Given the description of an element on the screen output the (x, y) to click on. 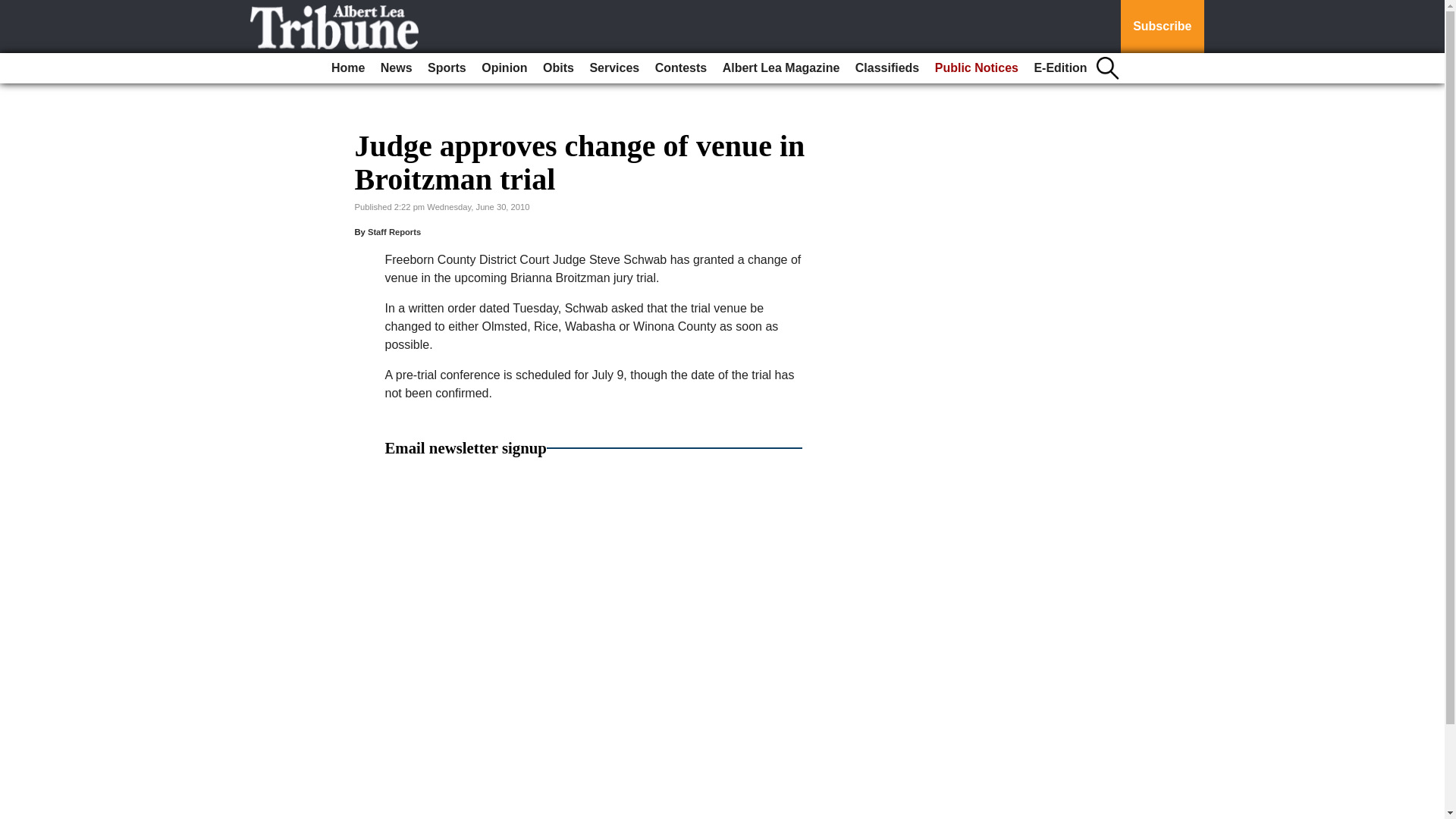
Opinion (504, 68)
News (396, 68)
Obits (558, 68)
Services (614, 68)
Home (347, 68)
Subscribe (1162, 26)
Sports (446, 68)
